Given the description of an element on the screen output the (x, y) to click on. 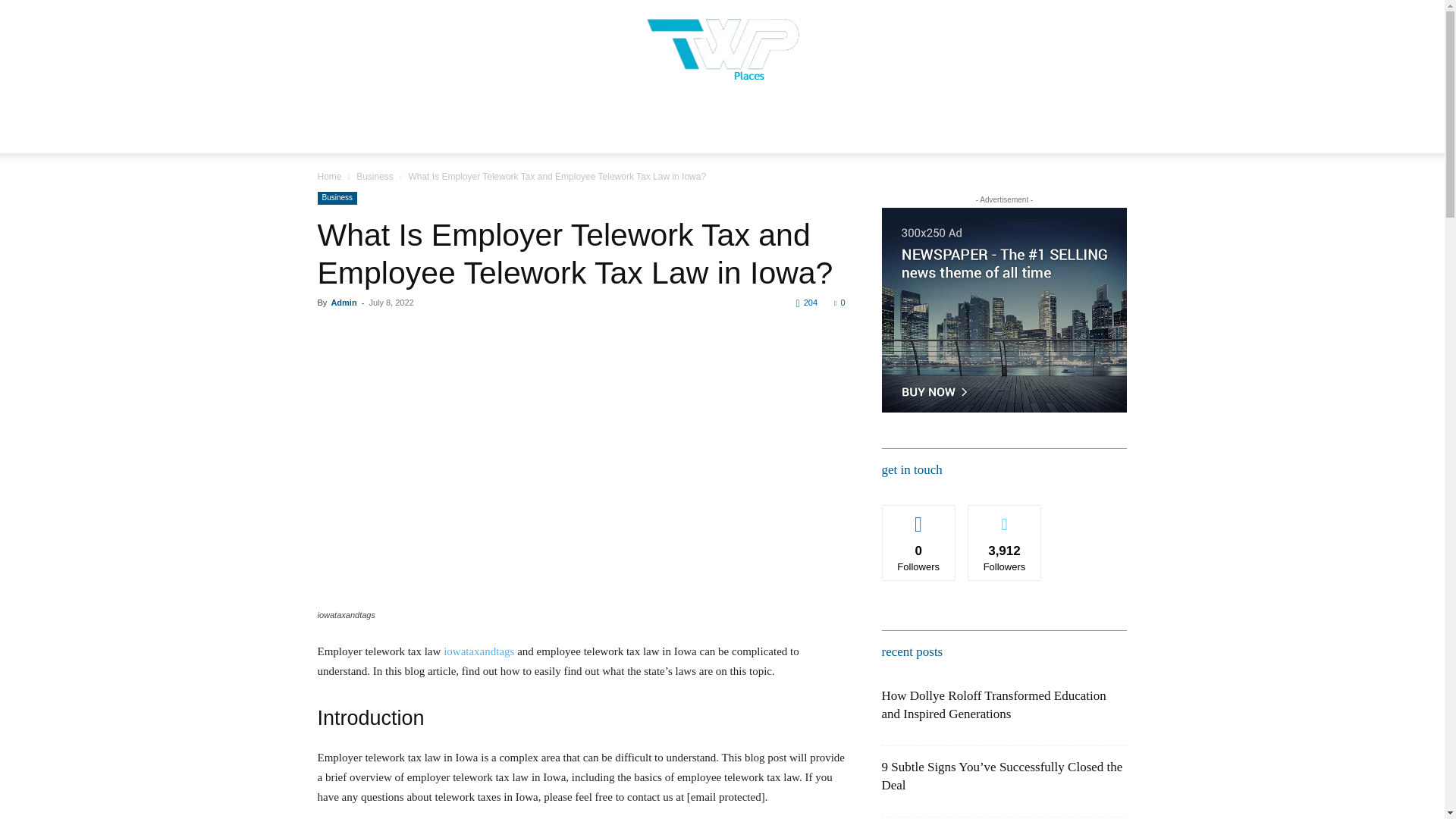
Health (619, 112)
Fashion (744, 112)
News (403, 112)
Entertainment (542, 112)
Business (461, 112)
Lifestyle (680, 112)
View all posts in Business (374, 176)
Technology (816, 112)
